Given the description of an element on the screen output the (x, y) to click on. 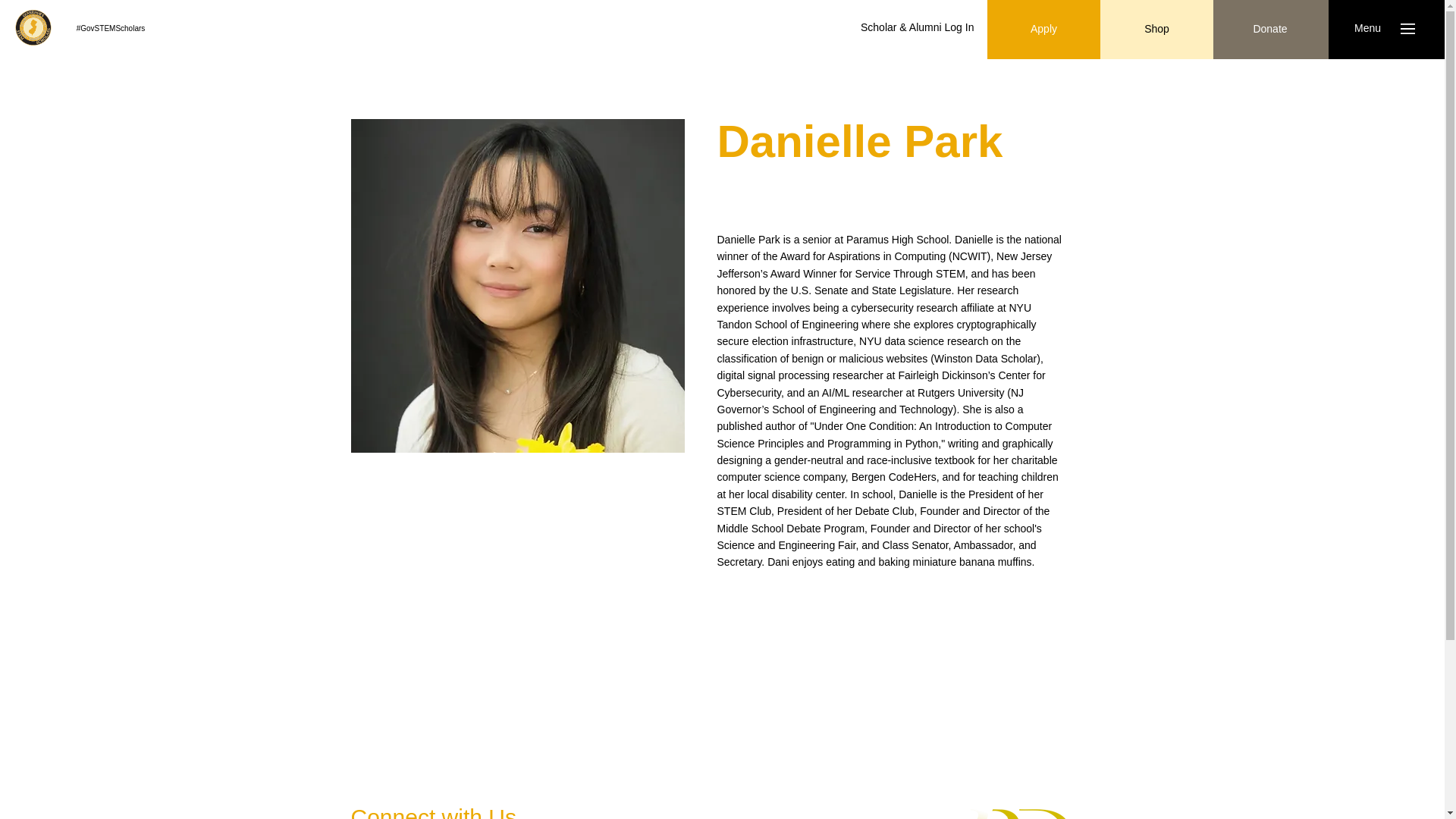
Shop (1156, 29)
Apply (1043, 29)
Menu (1366, 28)
Donate (1269, 29)
Danielle Park.jpg (517, 285)
